Given the description of an element on the screen output the (x, y) to click on. 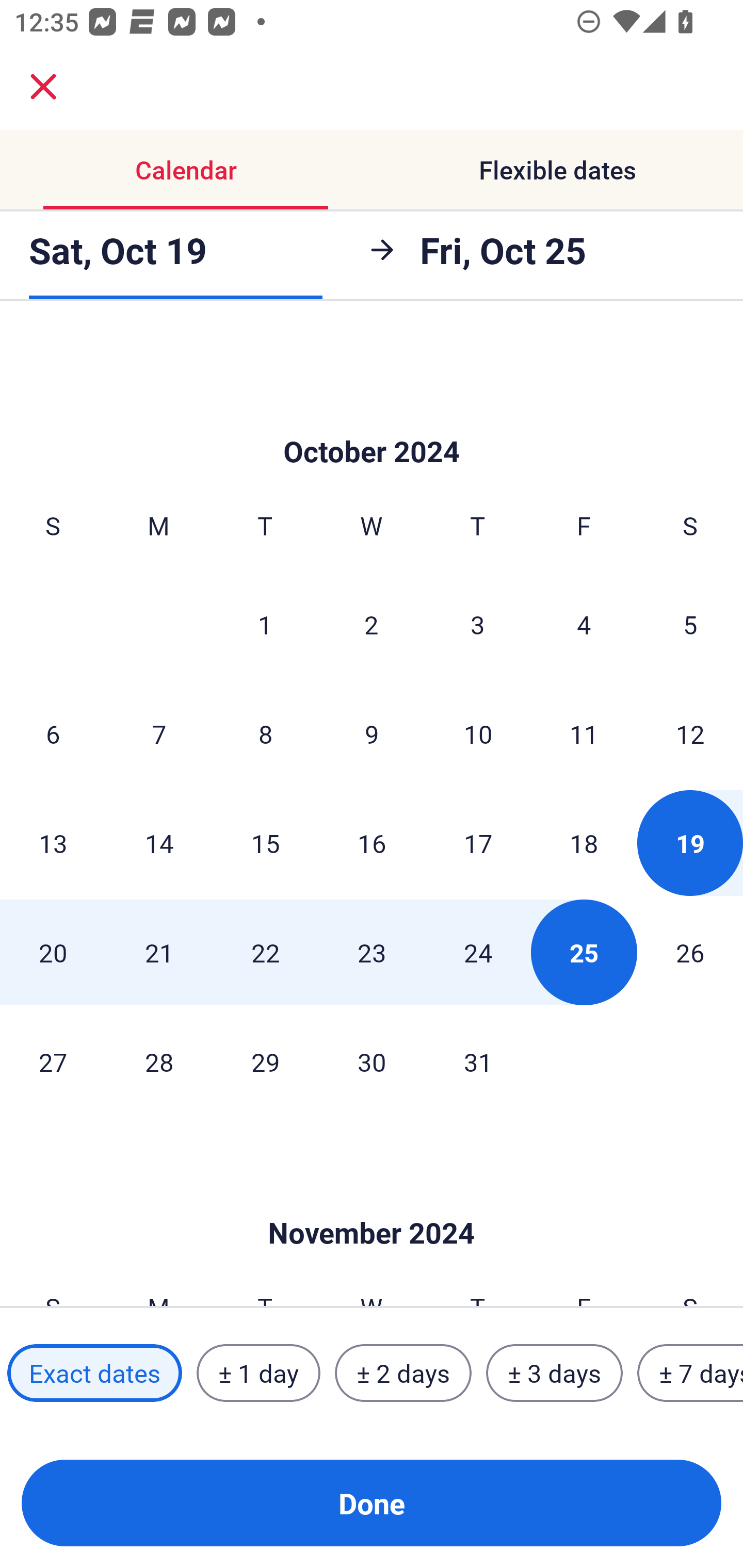
close. (43, 86)
Flexible dates (557, 170)
Skip to Done (371, 420)
1 Tuesday, October 1, 2024 (264, 623)
2 Wednesday, October 2, 2024 (371, 623)
3 Thursday, October 3, 2024 (477, 623)
4 Friday, October 4, 2024 (584, 623)
5 Saturday, October 5, 2024 (690, 623)
6 Sunday, October 6, 2024 (53, 733)
7 Monday, October 7, 2024 (159, 733)
8 Tuesday, October 8, 2024 (265, 733)
9 Wednesday, October 9, 2024 (371, 733)
10 Thursday, October 10, 2024 (477, 733)
11 Friday, October 11, 2024 (584, 733)
12 Saturday, October 12, 2024 (690, 733)
13 Sunday, October 13, 2024 (53, 842)
14 Monday, October 14, 2024 (159, 842)
15 Tuesday, October 15, 2024 (265, 842)
16 Wednesday, October 16, 2024 (371, 842)
17 Thursday, October 17, 2024 (477, 842)
18 Friday, October 18, 2024 (584, 842)
26 Saturday, October 26, 2024 (690, 952)
27 Sunday, October 27, 2024 (53, 1061)
28 Monday, October 28, 2024 (159, 1061)
29 Tuesday, October 29, 2024 (265, 1061)
30 Wednesday, October 30, 2024 (371, 1061)
31 Thursday, October 31, 2024 (477, 1061)
Skip to Done (371, 1201)
Exact dates (94, 1372)
± 1 day (258, 1372)
± 2 days (403, 1372)
± 3 days (553, 1372)
± 7 days (690, 1372)
Done (371, 1502)
